Given the description of an element on the screen output the (x, y) to click on. 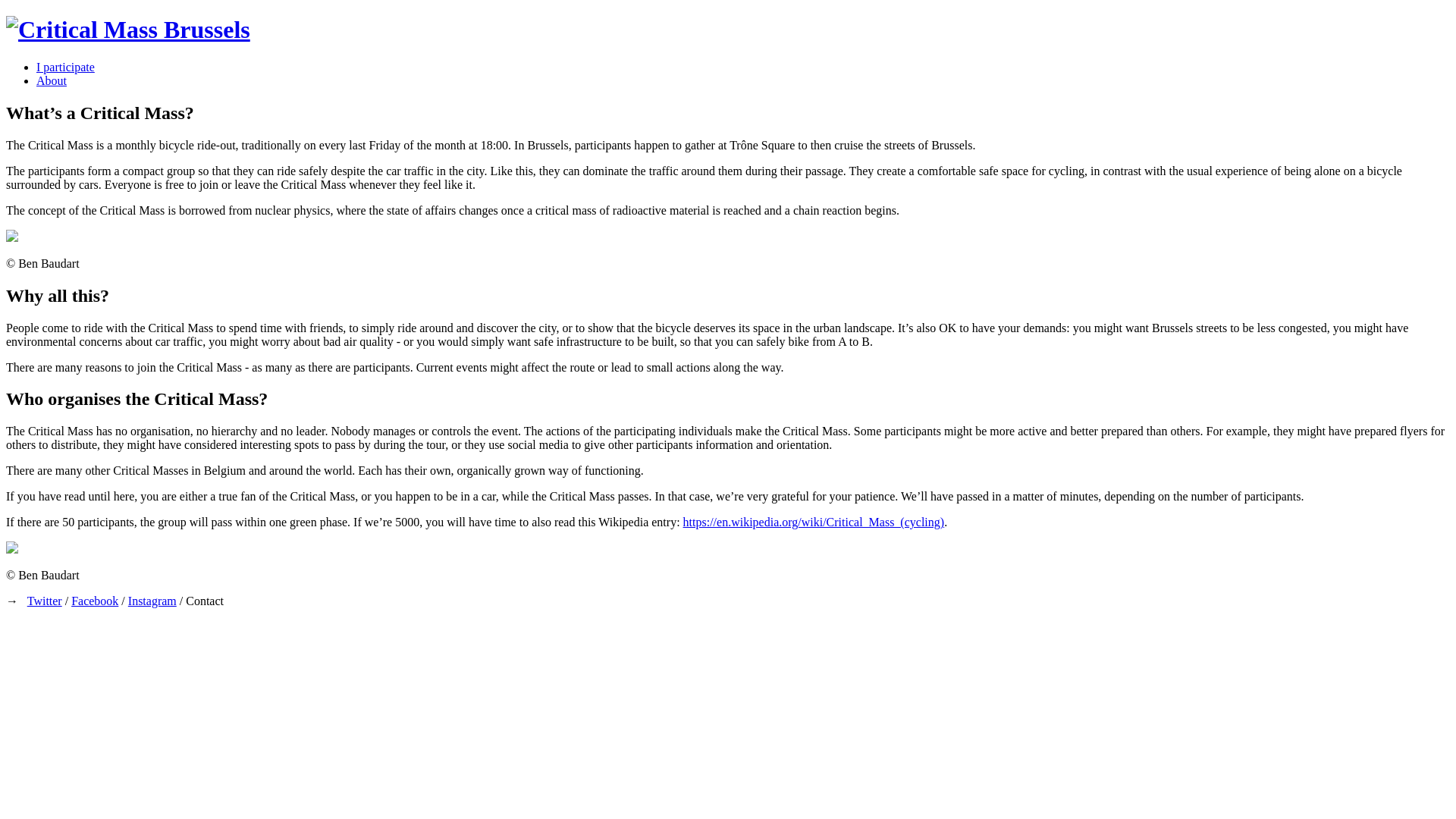
https://en.wikipedia.org/wiki/Critical_Mass_(cycling) Element type: text (813, 521)
Contact Element type: text (204, 600)
About Element type: text (51, 80)
Instagram Element type: text (152, 600)
Facebook Element type: text (94, 600)
Twitter Element type: text (44, 600)
I participate Element type: text (65, 66)
